Given the description of an element on the screen output the (x, y) to click on. 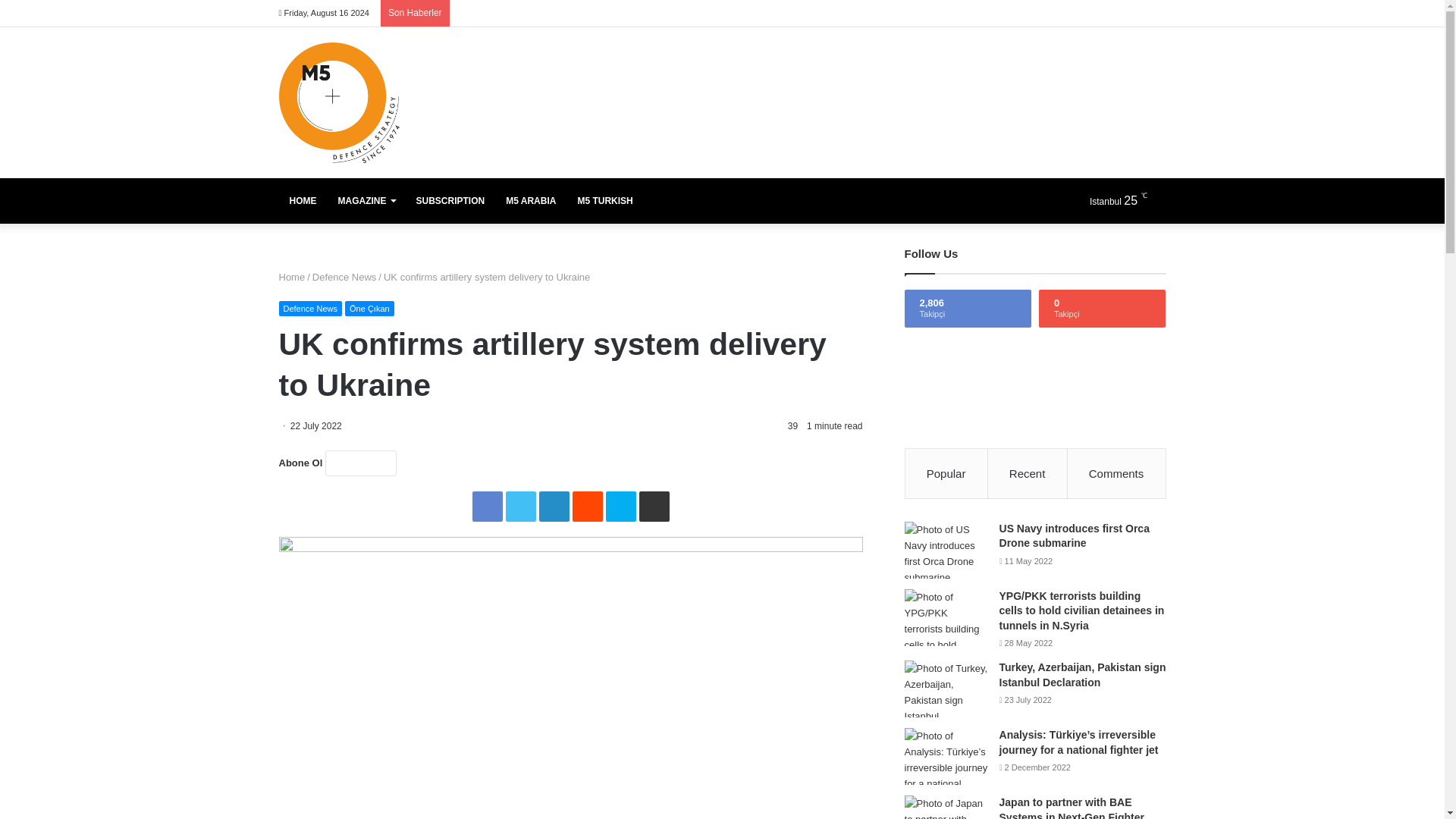
M5 ARABIA (530, 200)
Defence News (345, 276)
Twitter (520, 506)
M5 TURKISH (604, 200)
Skype (619, 506)
Share via Email (653, 506)
MAGAZINE (366, 200)
LinkedIn (553, 506)
HOME (303, 200)
Clear Sky (1125, 199)
